Given the description of an element on the screen output the (x, y) to click on. 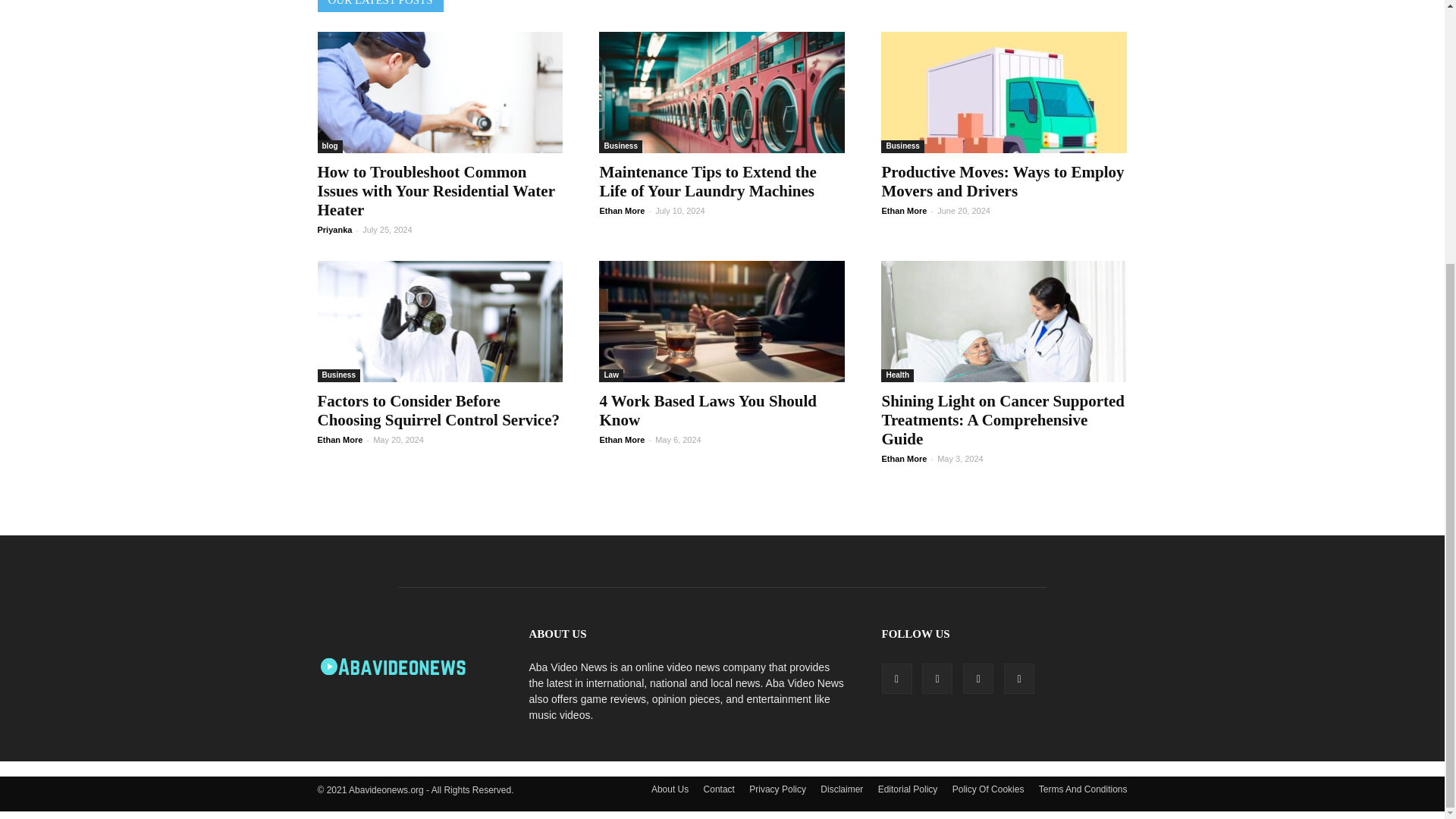
blog (329, 146)
Productive Moves: Ways to Employ Movers and Drivers (1002, 180)
Maintenance Tips to Extend the Life of Your Laundry Machines (706, 180)
Productive Moves: Ways to Employ Movers and Drivers (1003, 92)
Maintenance Tips to Extend the Life of Your Laundry Machines (721, 92)
